Given the description of an element on the screen output the (x, y) to click on. 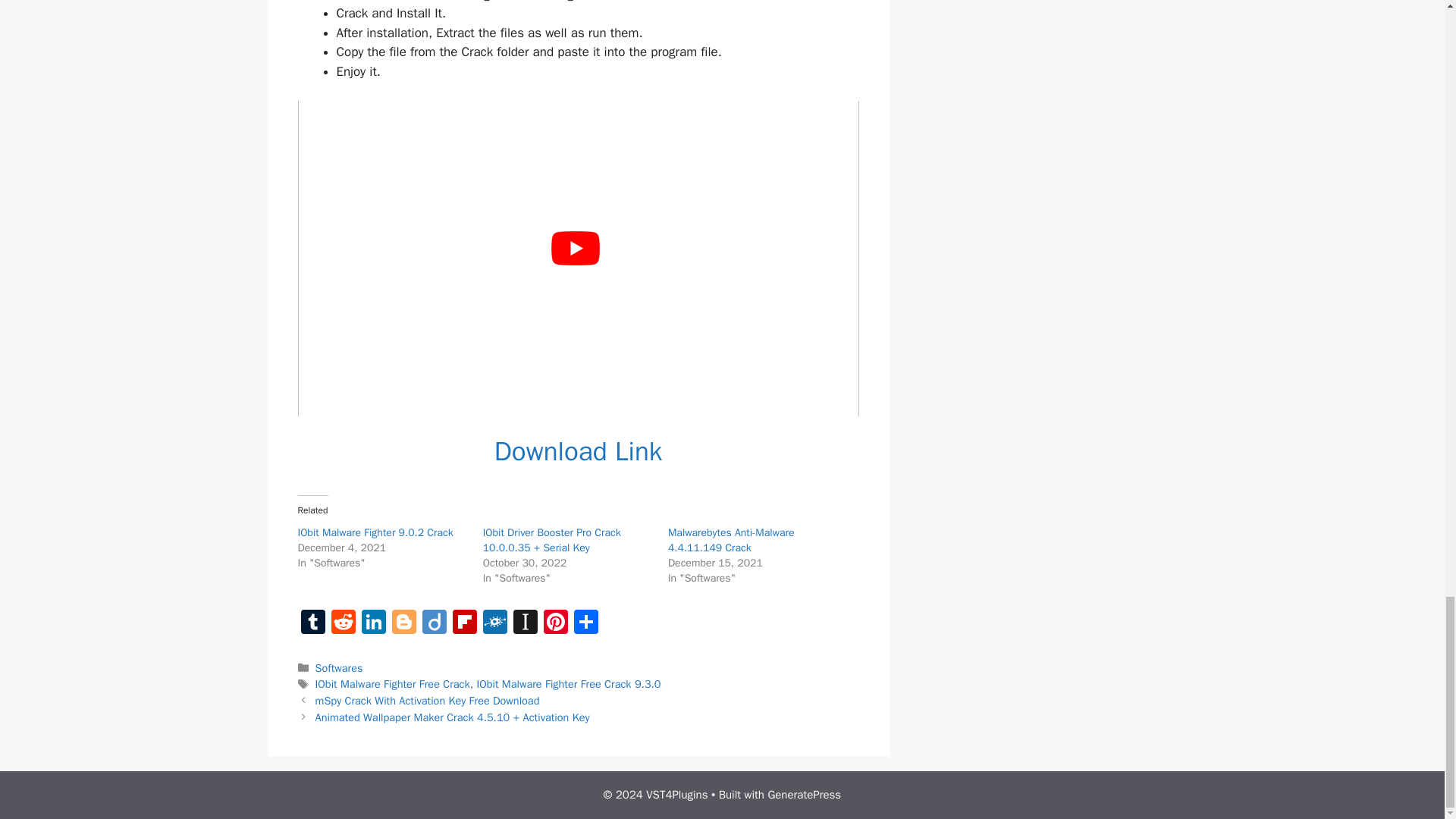
Malwarebytes Anti-Malware 4.4.11.149 Crack (731, 540)
Folkd (494, 623)
Blogger (403, 623)
Pinterest (555, 623)
Blogger (403, 623)
LinkedIn (373, 623)
Diigo (433, 623)
Instapaper (524, 623)
Diigo (433, 623)
Softwares (338, 667)
IObit Malware Fighter 9.0.2 Crack (374, 532)
Tumblr (312, 623)
GeneratePress (804, 794)
Instapaper (524, 623)
Reddit (342, 623)
